Given the description of an element on the screen output the (x, y) to click on. 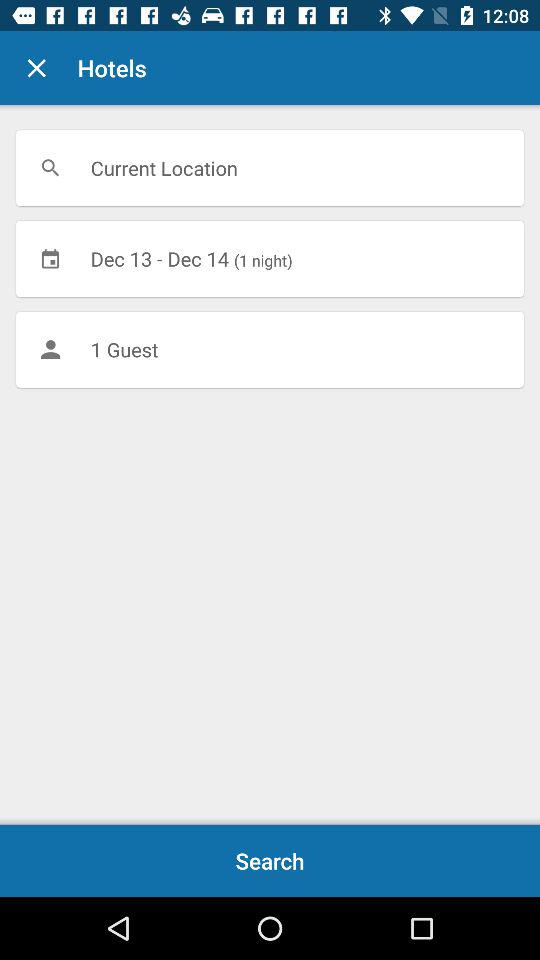
turn off item to the left of hotels icon (36, 68)
